Given the description of an element on the screen output the (x, y) to click on. 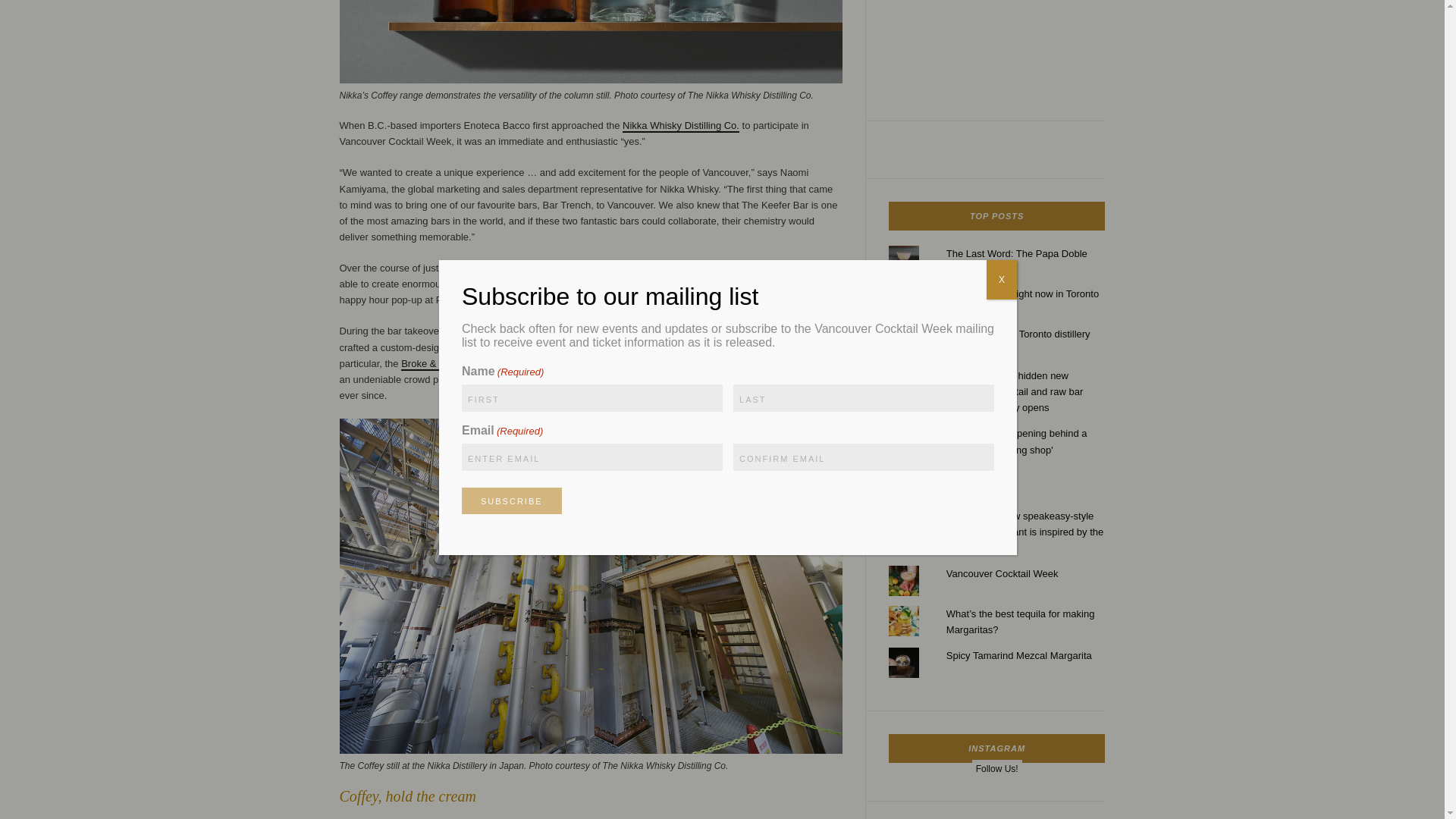
3rd party ad content (996, 43)
